Given the description of an element on the screen output the (x, y) to click on. 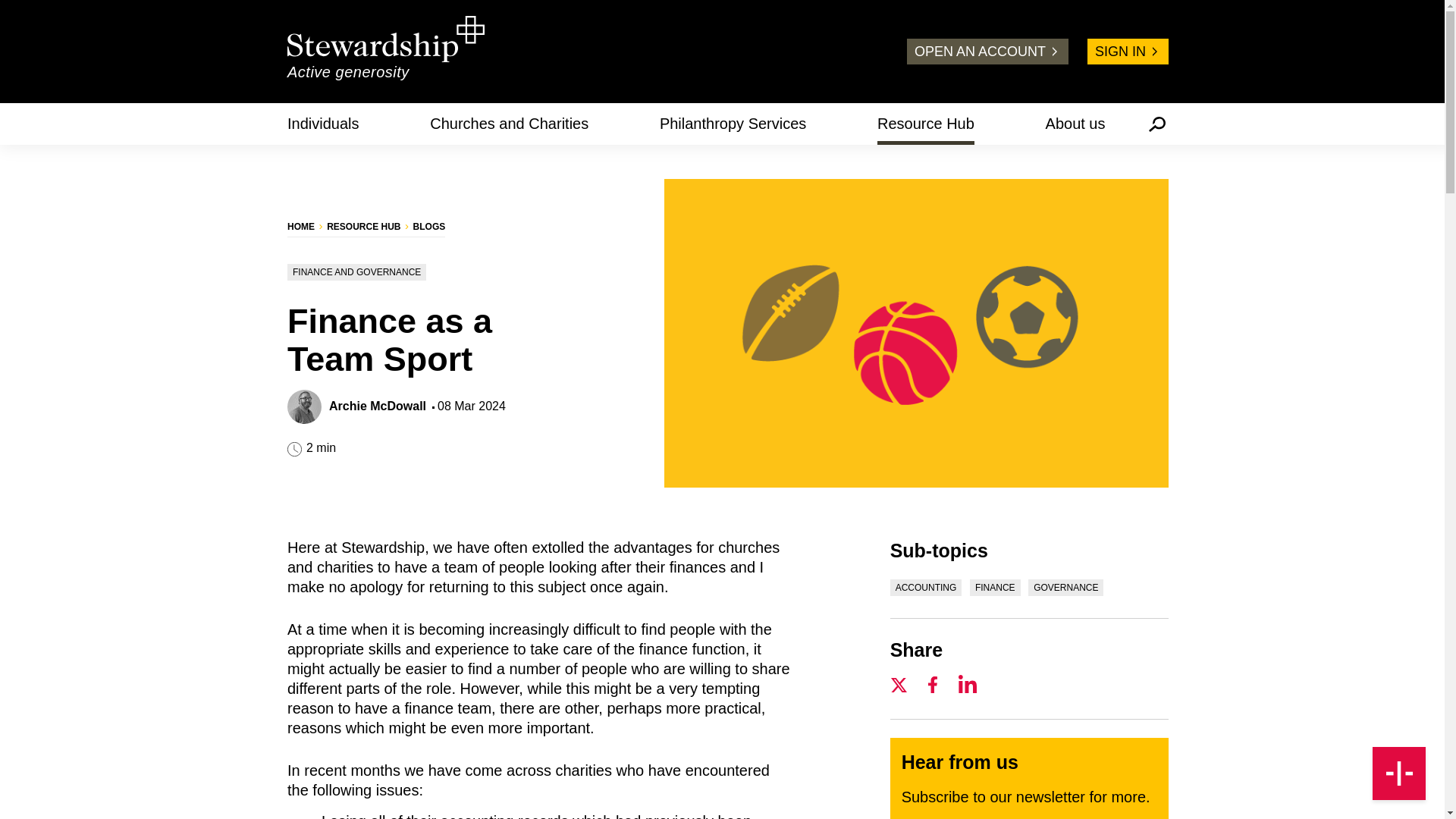
Philanthropy Services (732, 123)
Churches and Charities (508, 123)
OPEN AN ACCOUNT (987, 51)
SIGN IN (1128, 51)
Active generosity (385, 50)
Individuals (322, 123)
